Given the description of an element on the screen output the (x, y) to click on. 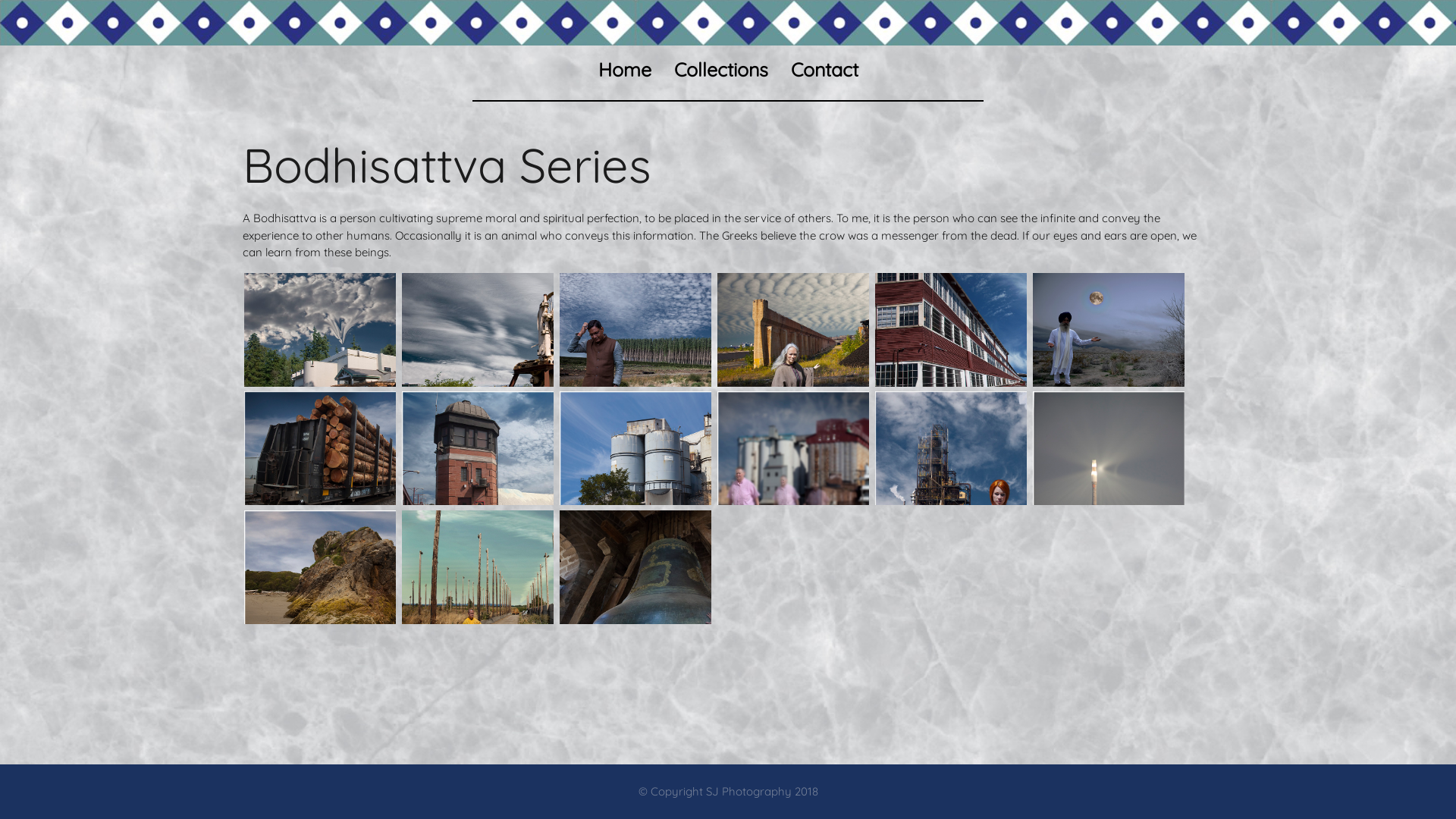
Home Element type: text (624, 69)
Contact Element type: text (824, 69)
Collections Element type: text (720, 69)
